Given the description of an element on the screen output the (x, y) to click on. 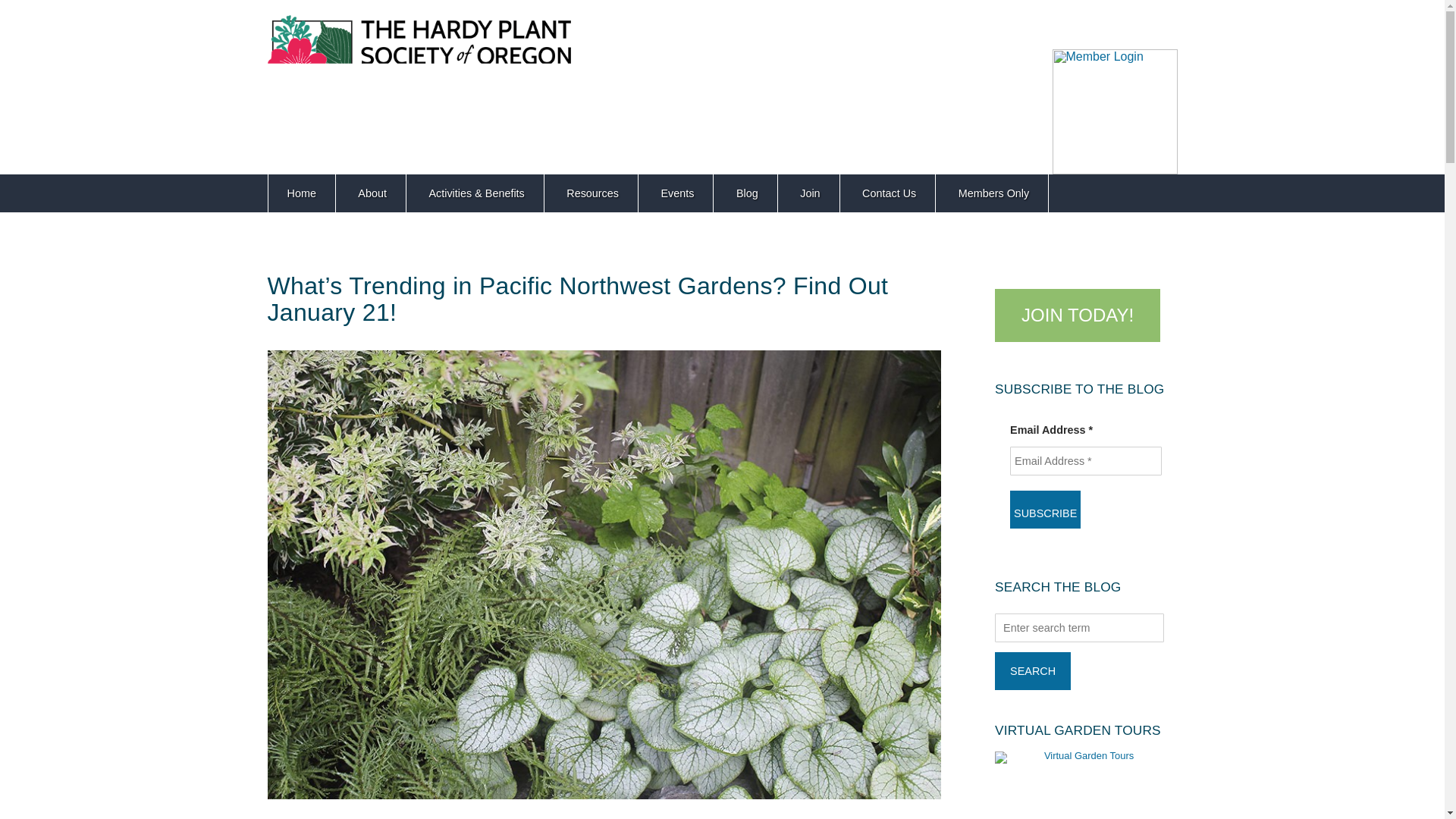
Join (809, 193)
About (372, 193)
JOIN TODAY! (1077, 317)
Resources (592, 193)
Subscribe (1045, 509)
Members Only (993, 193)
Enter search term (1078, 627)
Hardy Plant Society of Oregon (418, 70)
Home (300, 193)
Events (677, 193)
